Given the description of an element on the screen output the (x, y) to click on. 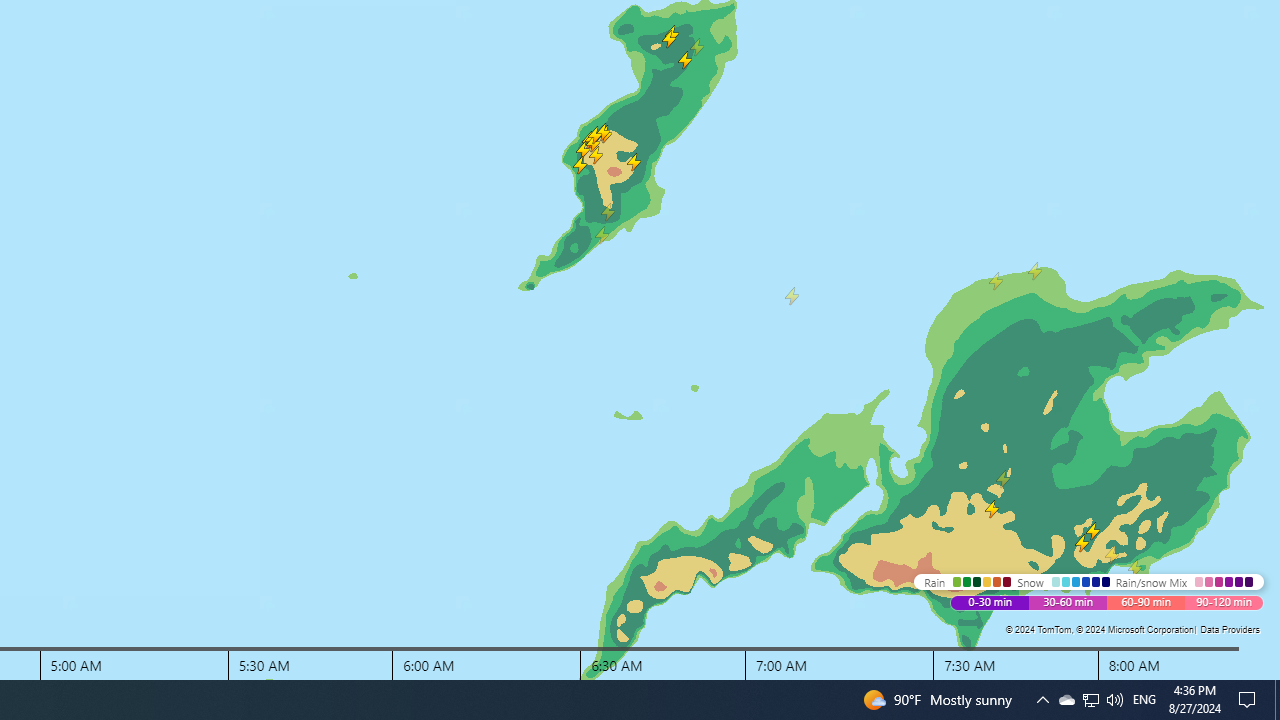
Action Center, No new notifications (1091, 699)
Show desktop (1250, 699)
Tray Input Indicator - English (United States) (1277, 699)
Q2790: 100% (1144, 699)
User Promoted Notification Area (1114, 699)
Notification Chevron (1090, 699)
